Given the description of an element on the screen output the (x, y) to click on. 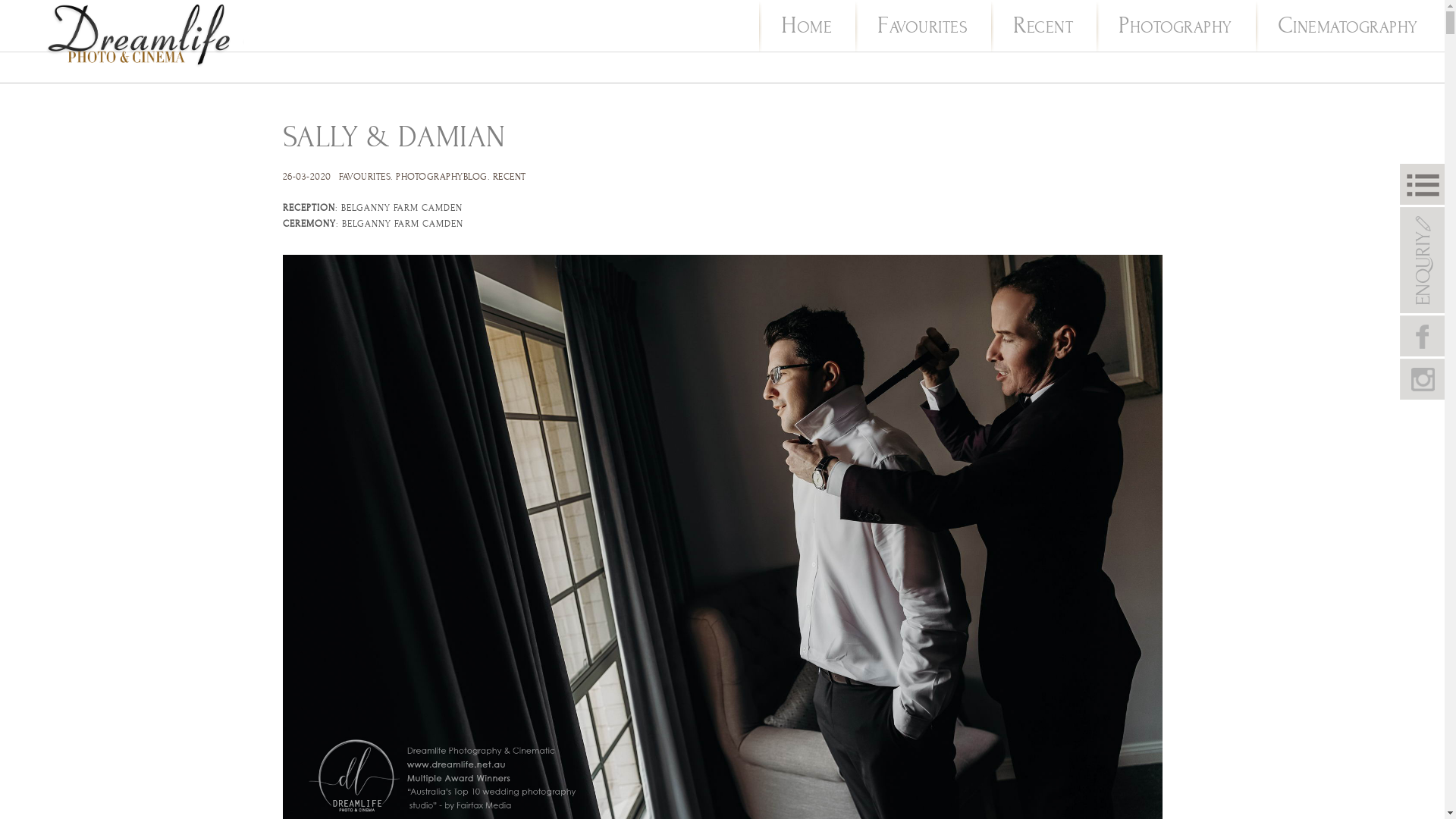
RECENT Element type: text (509, 176)
CINEMATOGRAPHY Element type: text (1347, 27)
PHOTOGRAPHY Element type: text (1175, 27)
FAVOURITES Element type: text (364, 176)
HOME Element type: text (806, 27)
RECENT Element type: text (1043, 27)
PHOTOGRAPHYBLOG Element type: text (441, 176)
FAVOURITES Element type: text (922, 27)
